Given the description of an element on the screen output the (x, y) to click on. 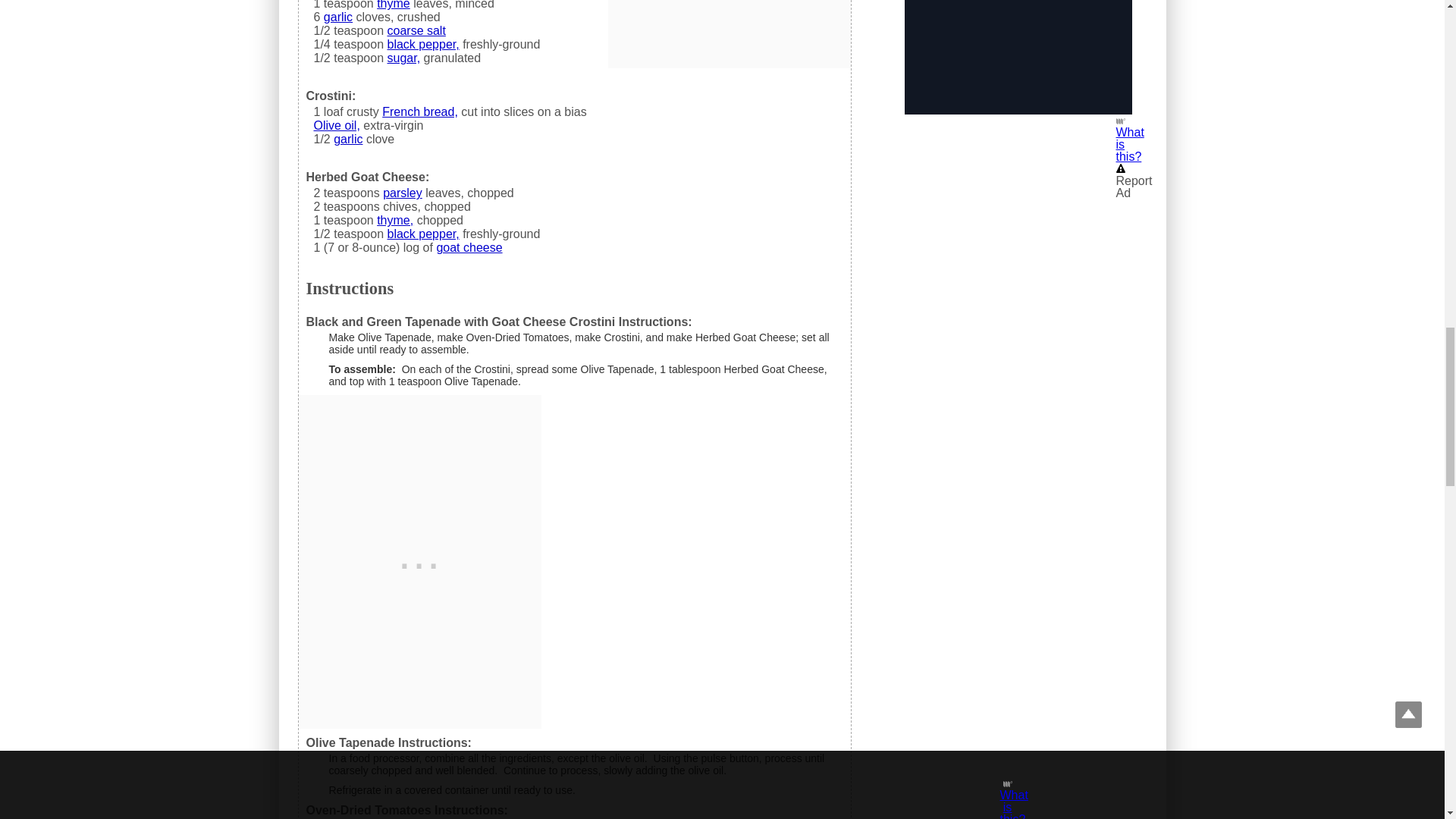
3rd party ad content (1017, 57)
